Given the description of an element on the screen output the (x, y) to click on. 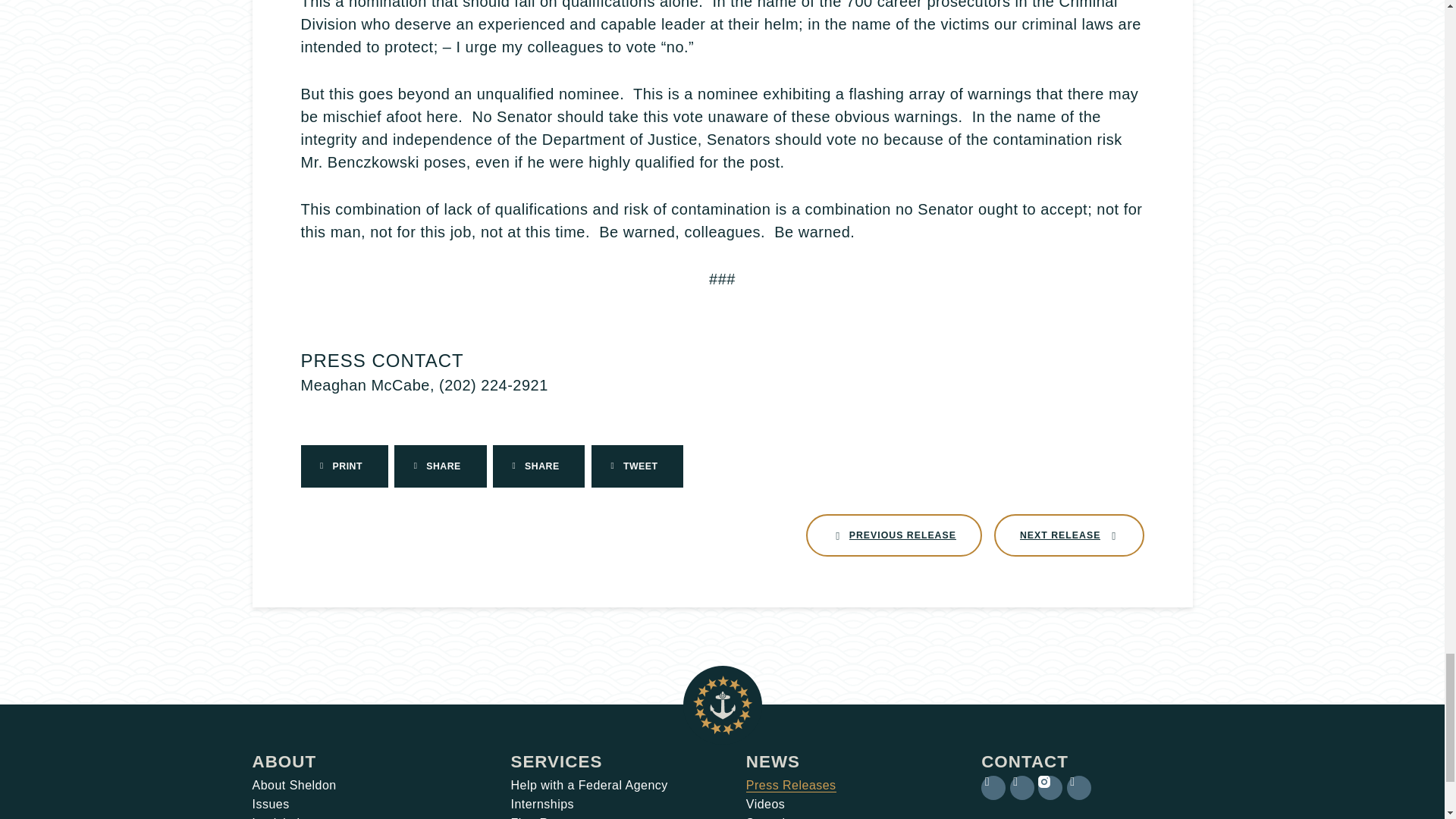
ABOUT (283, 761)
Issues (269, 804)
Legislation (893, 535)
About Sheldon (282, 817)
